Given the description of an element on the screen output the (x, y) to click on. 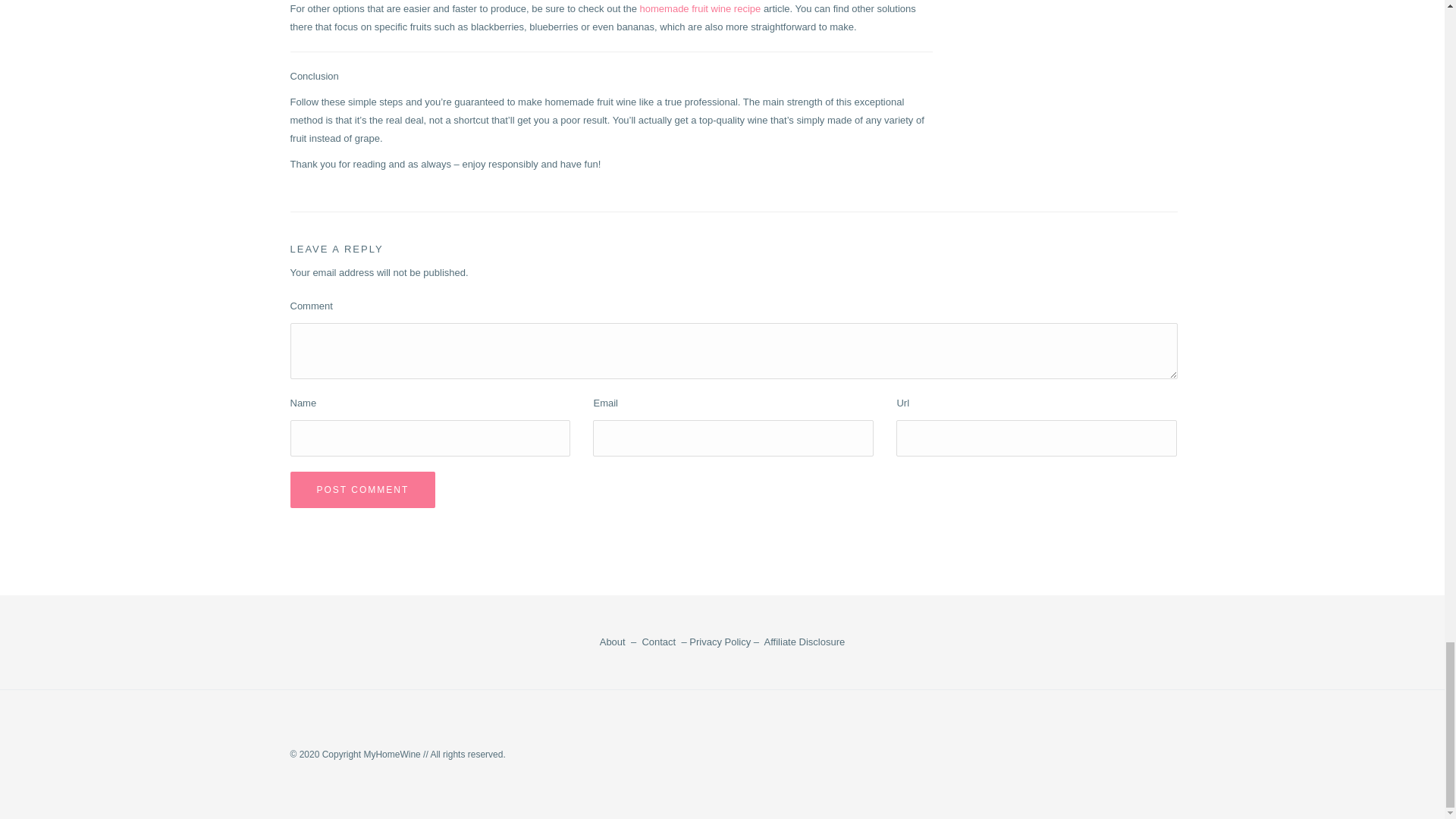
Affiliate Disclosure (804, 641)
Privacy Policy (719, 641)
About (612, 641)
Post Comment (362, 489)
Contact (658, 641)
homemade fruit wine recipe (700, 8)
Post Comment (362, 489)
